Given the description of an element on the screen output the (x, y) to click on. 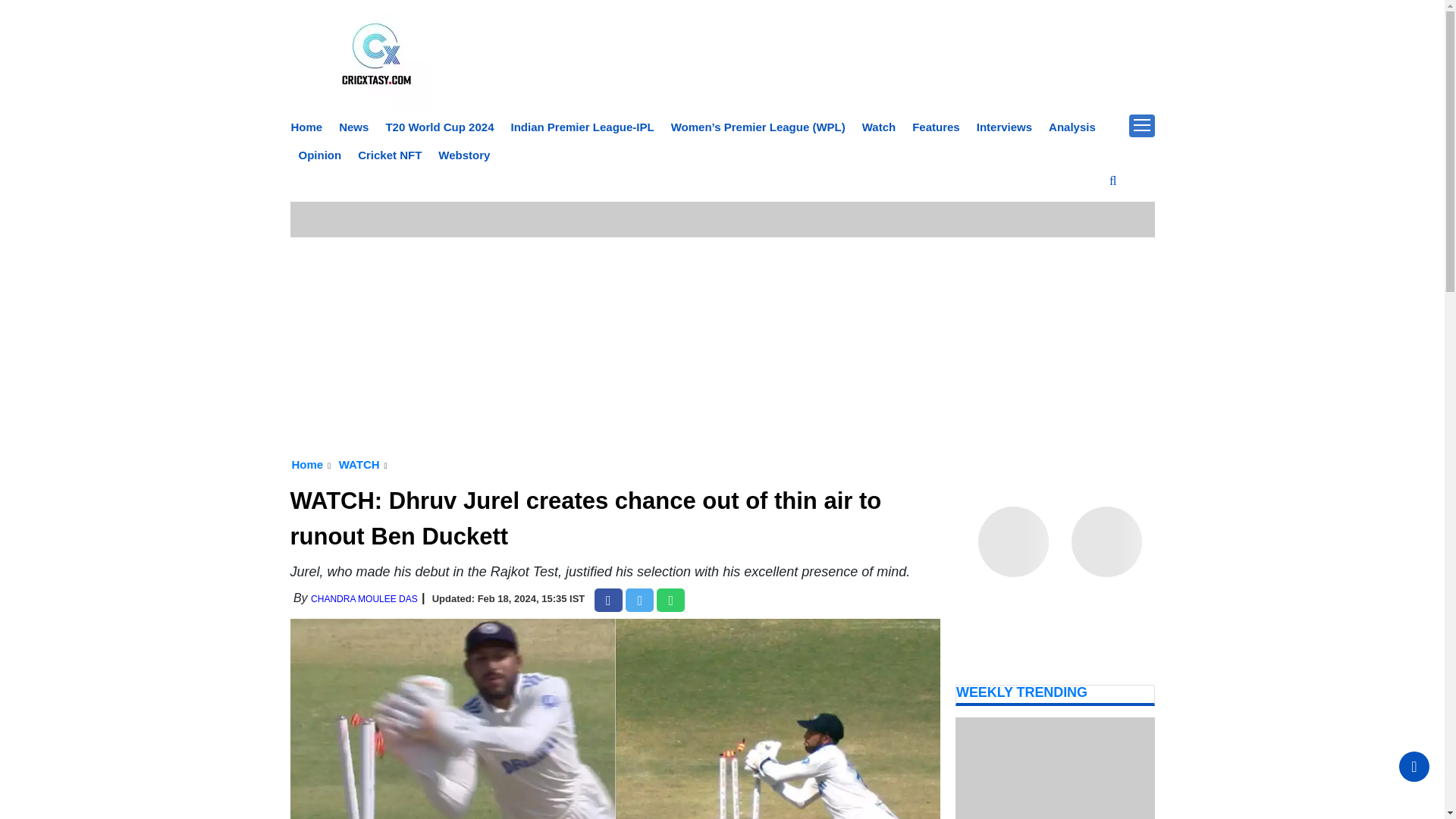
Home (307, 463)
Analysis (1072, 126)
Watch (878, 126)
Webstory (463, 154)
Interviews (1004, 126)
Opinion (320, 154)
T20 World Cup 2024 (439, 126)
CHANDRA MOULEE DAS (364, 598)
Home (307, 126)
